Given the description of an element on the screen output the (x, y) to click on. 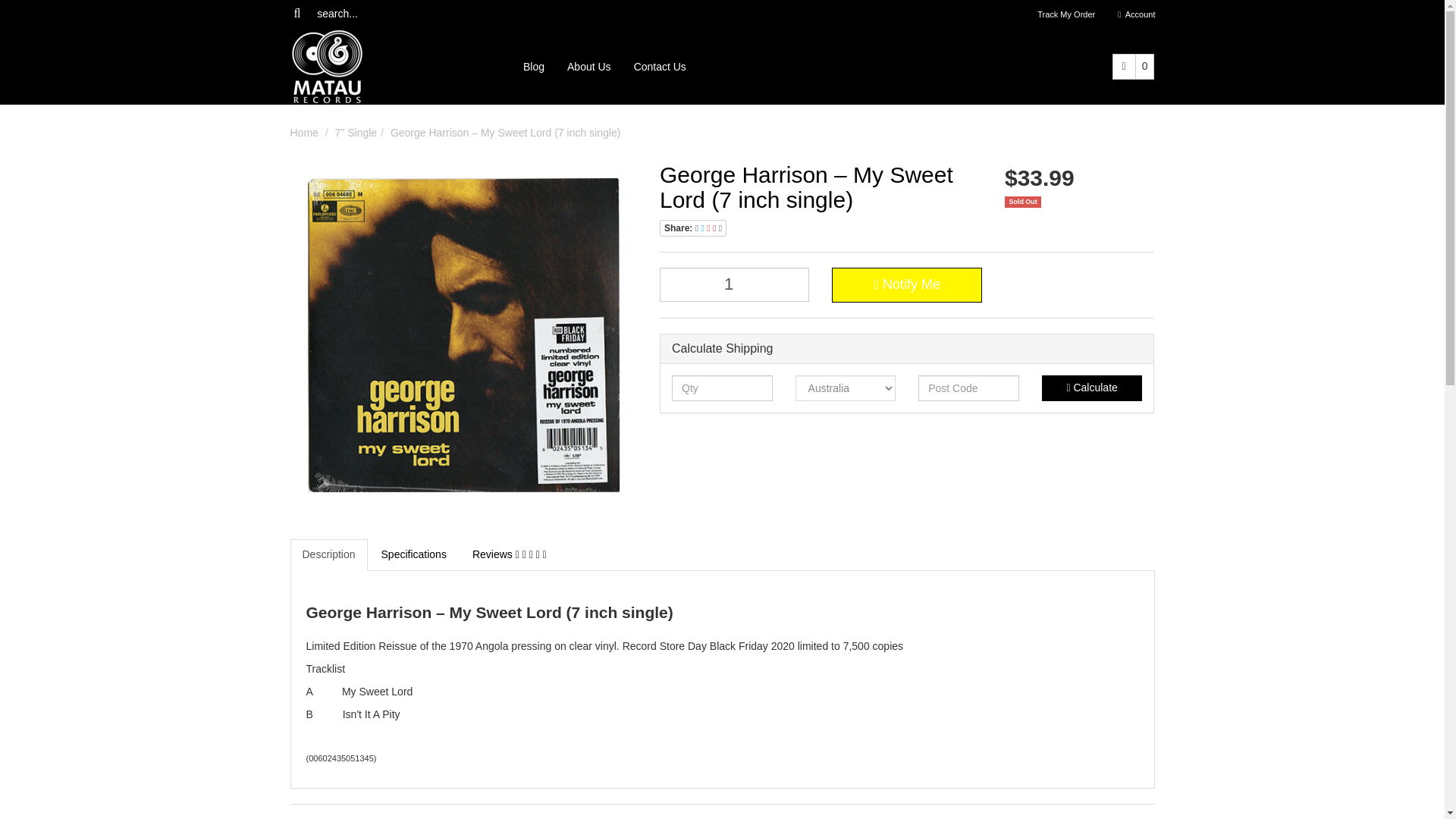
Track My Order (1066, 14)
Description (327, 554)
Share: (692, 228)
1 (734, 284)
Calculate (1092, 388)
Blog (534, 66)
About Us (589, 66)
Home (303, 132)
Matau Records (325, 65)
Notify Me (906, 284)
Track my order (1066, 14)
Calculate (1092, 388)
Contact Us (660, 66)
Reviews (509, 554)
7" Single (355, 132)
